Given the description of an element on the screen output the (x, y) to click on. 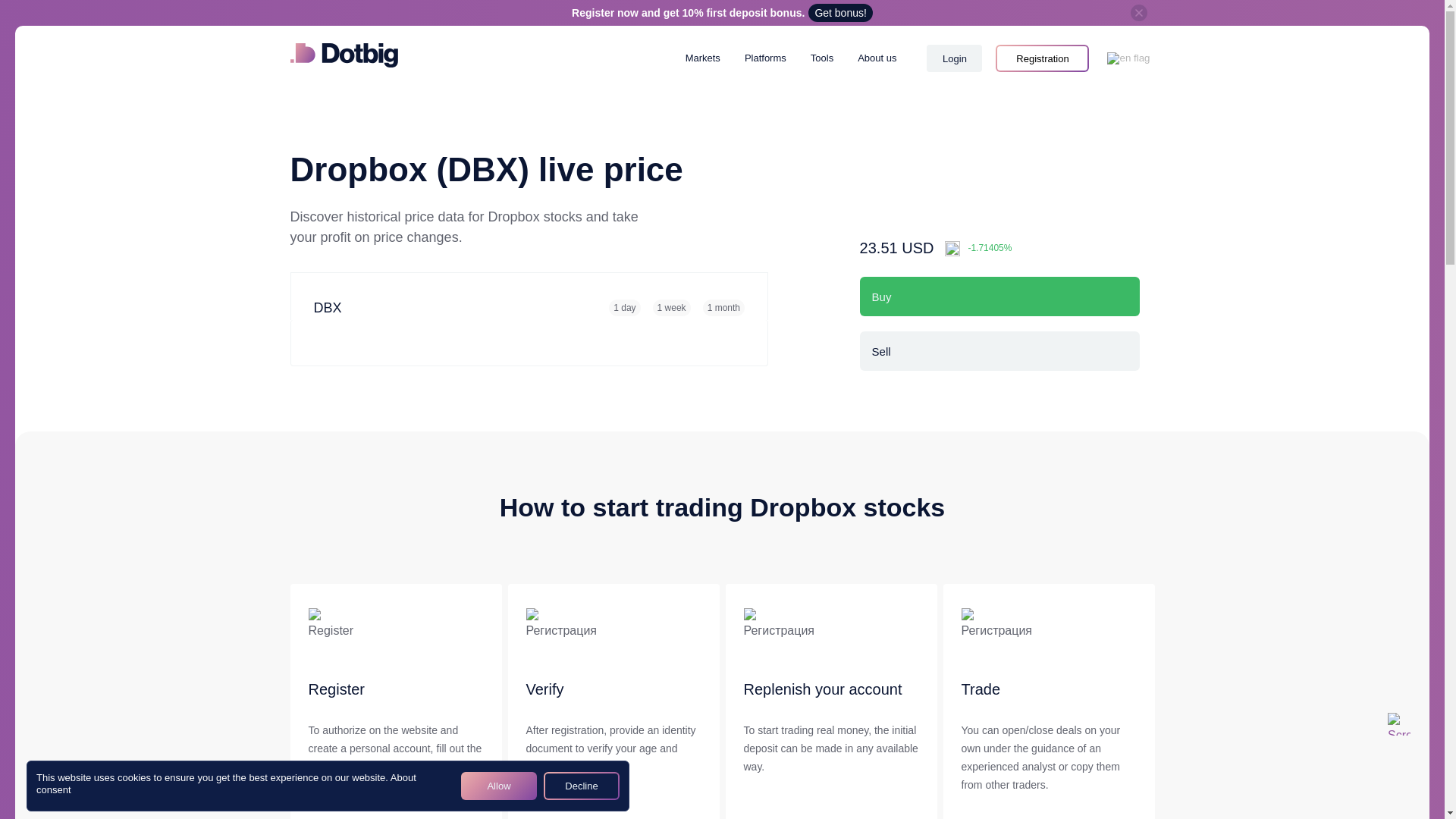
Registration (1042, 57)
Login (953, 58)
Get bonus! (840, 13)
Buy (1000, 296)
Sell (1000, 351)
